Given the description of an element on the screen output the (x, y) to click on. 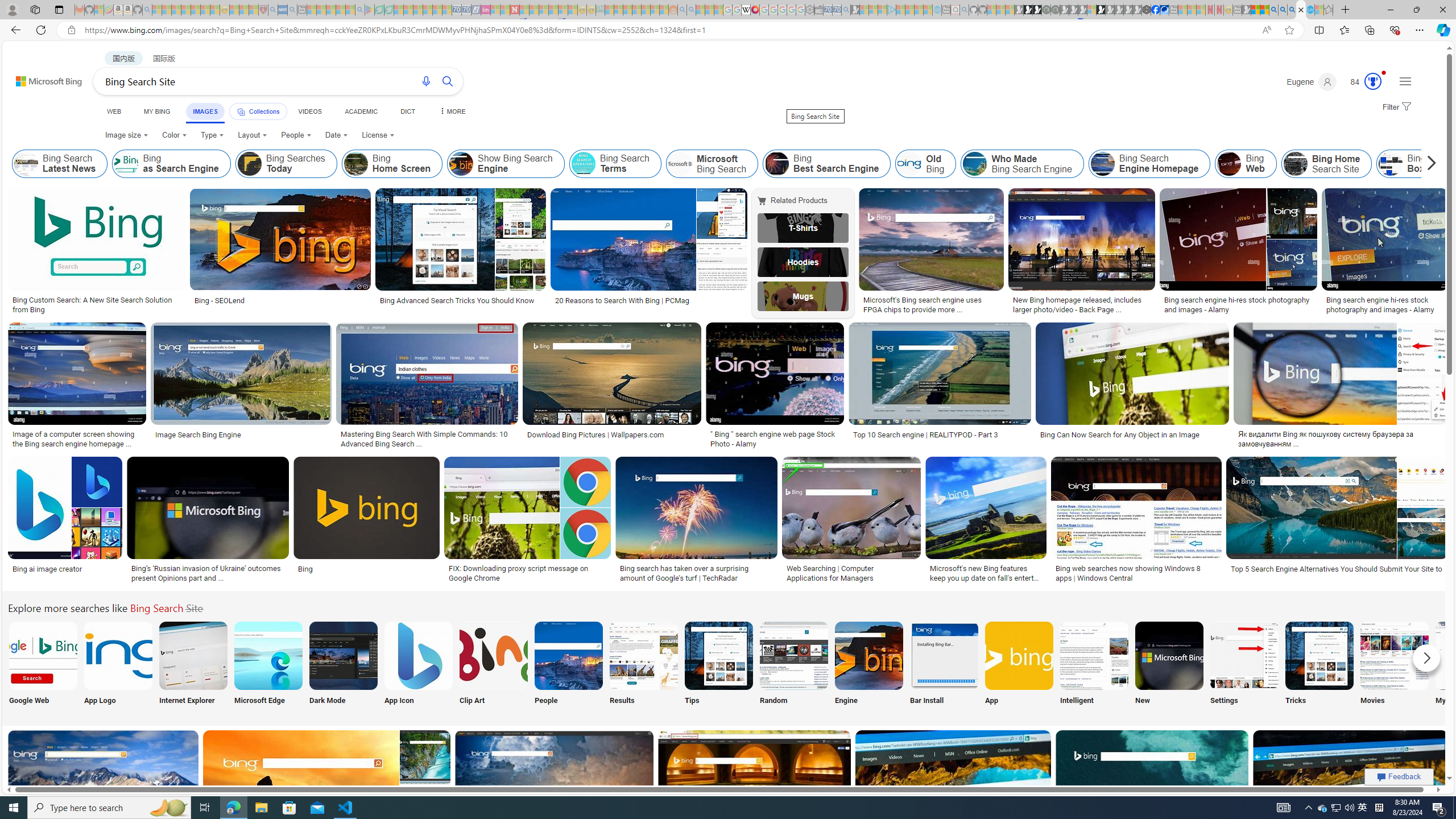
Bing Custom Search: A New Site Search Solution from BingSave (98, 252)
Bing Search Bar Install Bar Install (944, 665)
Bing Searches Today (285, 163)
Search using voice (426, 80)
MediaWiki (754, 9)
ACADEMIC (360, 111)
